Given the description of an element on the screen output the (x, y) to click on. 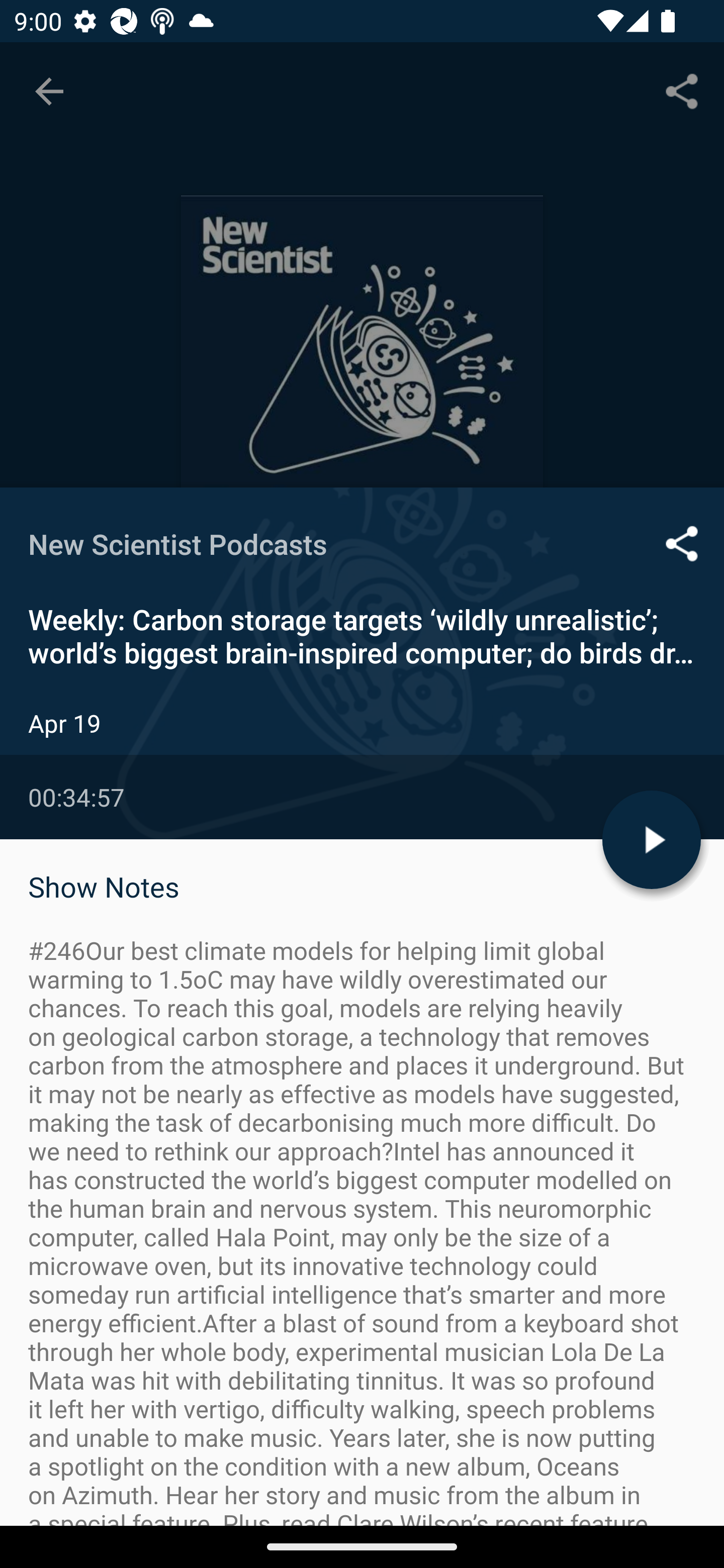
Navigate up (49, 91)
Share... (681, 90)
